Given the description of an element on the screen output the (x, y) to click on. 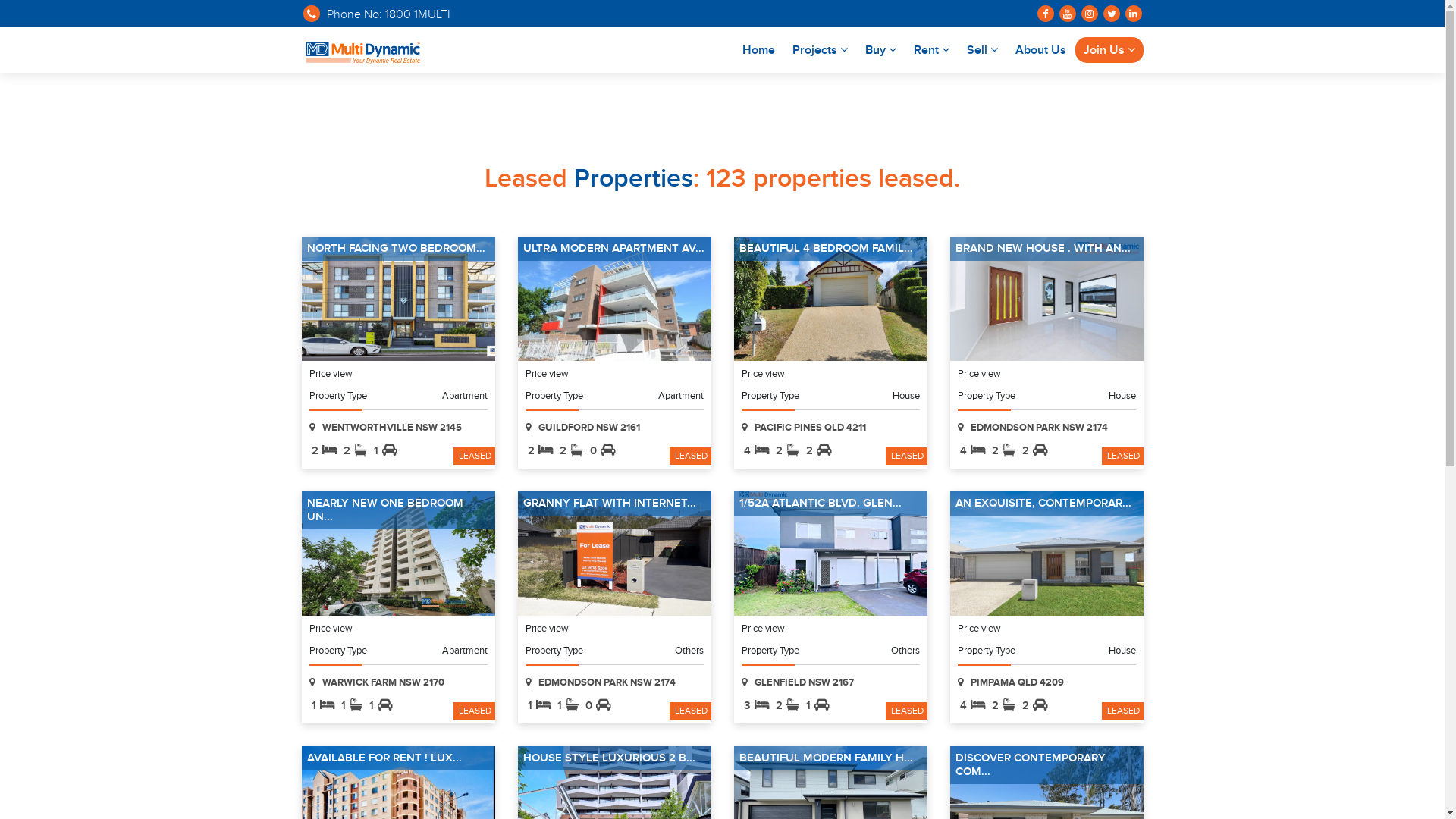
GRANNY FLAT WITH INTERNET AND WATER BILL INCLUDED IN RENT
 Element type: hover (613, 553)
Sell Element type: text (982, 49)
Home
(current) Element type: text (758, 49)
NEARLY NEW ONE BEDROOM UNIT FOR RENT Element type: hover (398, 553)
About Us Element type: text (1040, 49)
Rent Element type: text (931, 49)
Buy Element type: text (880, 49)
ULTRA MODERN APARTMENT AVAILABLE FOR RENT IN GUILDFORD Element type: hover (613, 298)
1/52A Atlantic Blvd. Glenfield NSW Element type: hover (830, 553)
Phone No: 1800 1MULTI Element type: text (375, 16)
North Facing two bedroom modern apartment Element type: hover (398, 298)
Join Us Element type: text (1109, 49)
Projects Element type: text (820, 49)
